Given the description of an element on the screen output the (x, y) to click on. 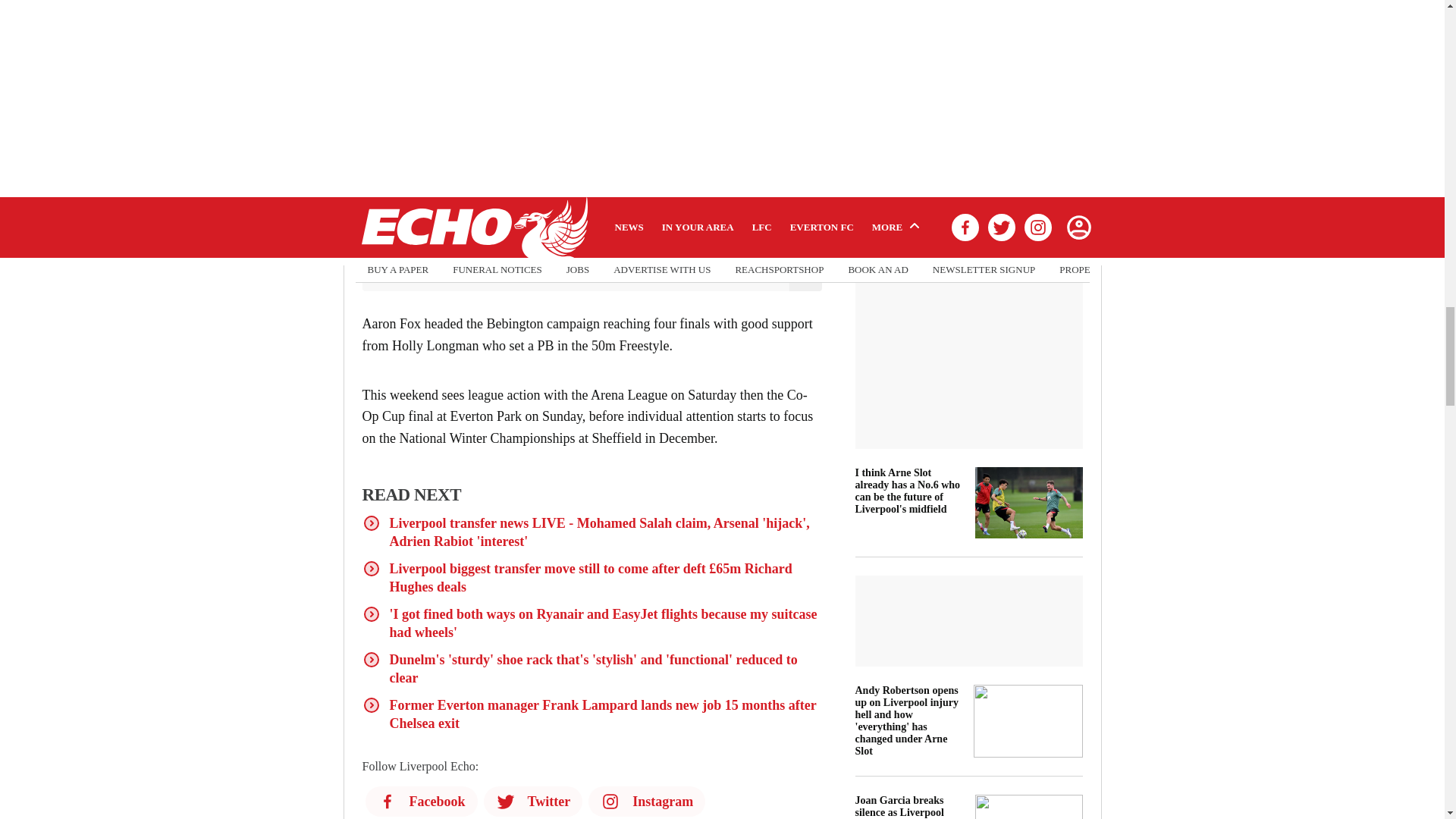
Twitter (533, 801)
Read Next Article Icon (371, 659)
Facebook (421, 801)
Read Next Article Icon (371, 568)
Read Next Article Icon (371, 614)
Read Next Article Icon (371, 705)
